Given the description of an element on the screen output the (x, y) to click on. 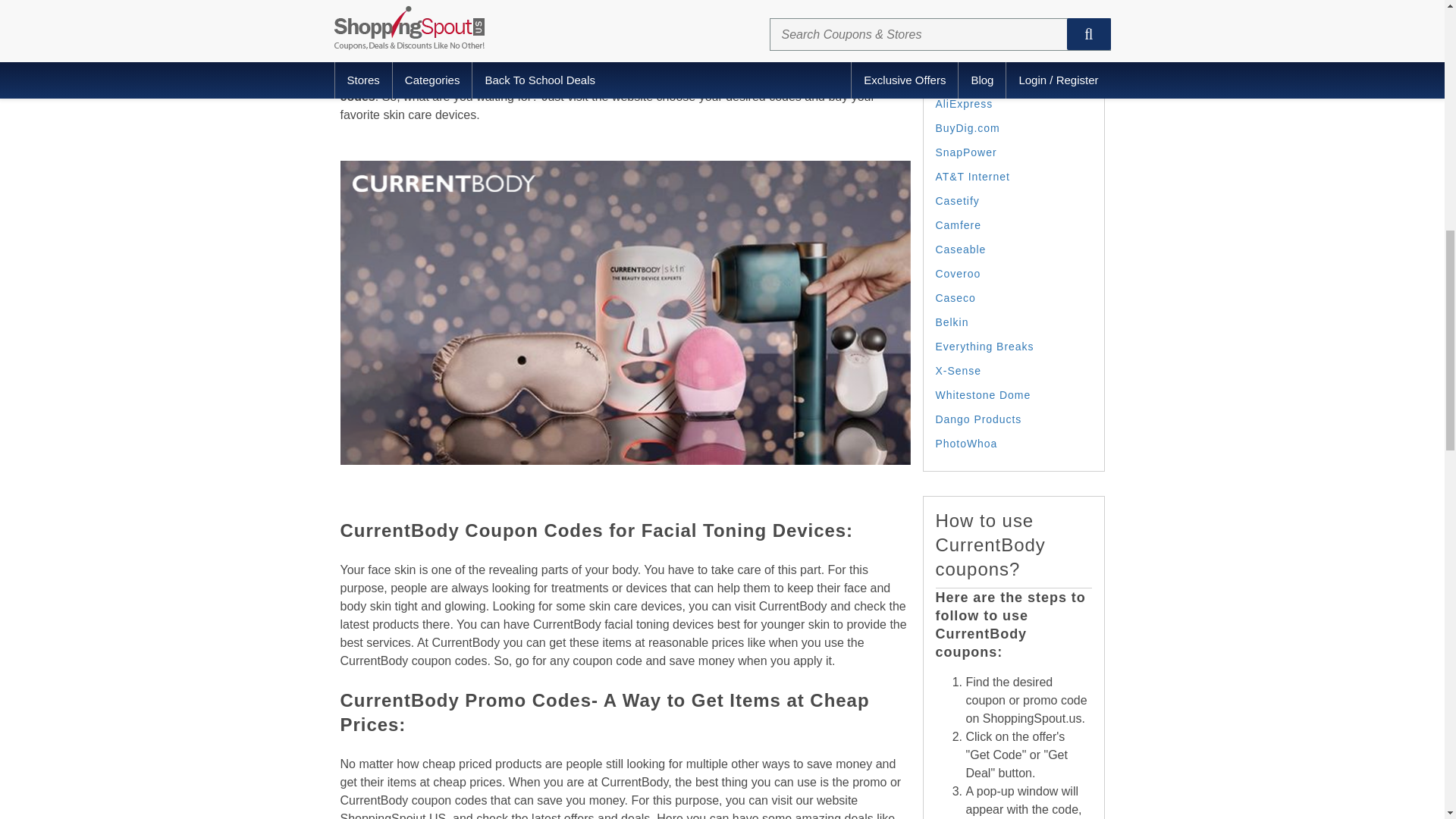
Best Buy (960, 6)
Camfere (958, 224)
Coveroo (958, 273)
Sunsky Online (974, 79)
Epson (952, 30)
SnapPower (966, 152)
Belkin (952, 322)
AliExpress (964, 103)
MiniInTheBox (972, 55)
Whitestone Dome (983, 395)
Everything Breaks (984, 346)
BuyDig.com (968, 128)
PhotoWhoa (966, 443)
X-Sense (958, 370)
Dango Products (979, 419)
